Given the description of an element on the screen output the (x, y) to click on. 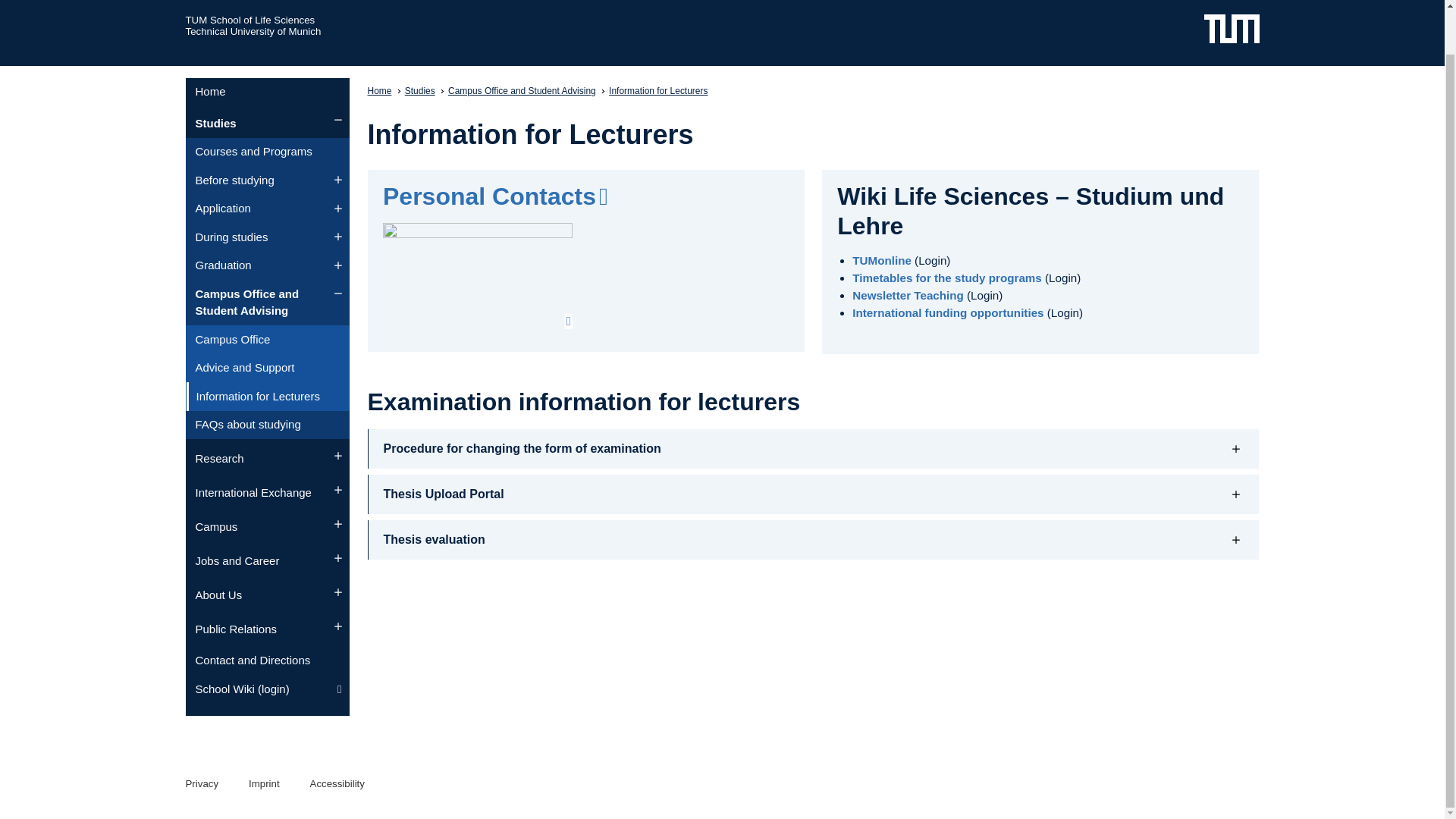
FAQs about studying (266, 425)
Home (266, 92)
Application (266, 208)
Before studying (266, 180)
Home Technical University of Munich (252, 30)
Home www.tum.de (1231, 27)
During studies (266, 236)
Application (266, 208)
During studies (266, 236)
Research (266, 459)
